Given the description of an element on the screen output the (x, y) to click on. 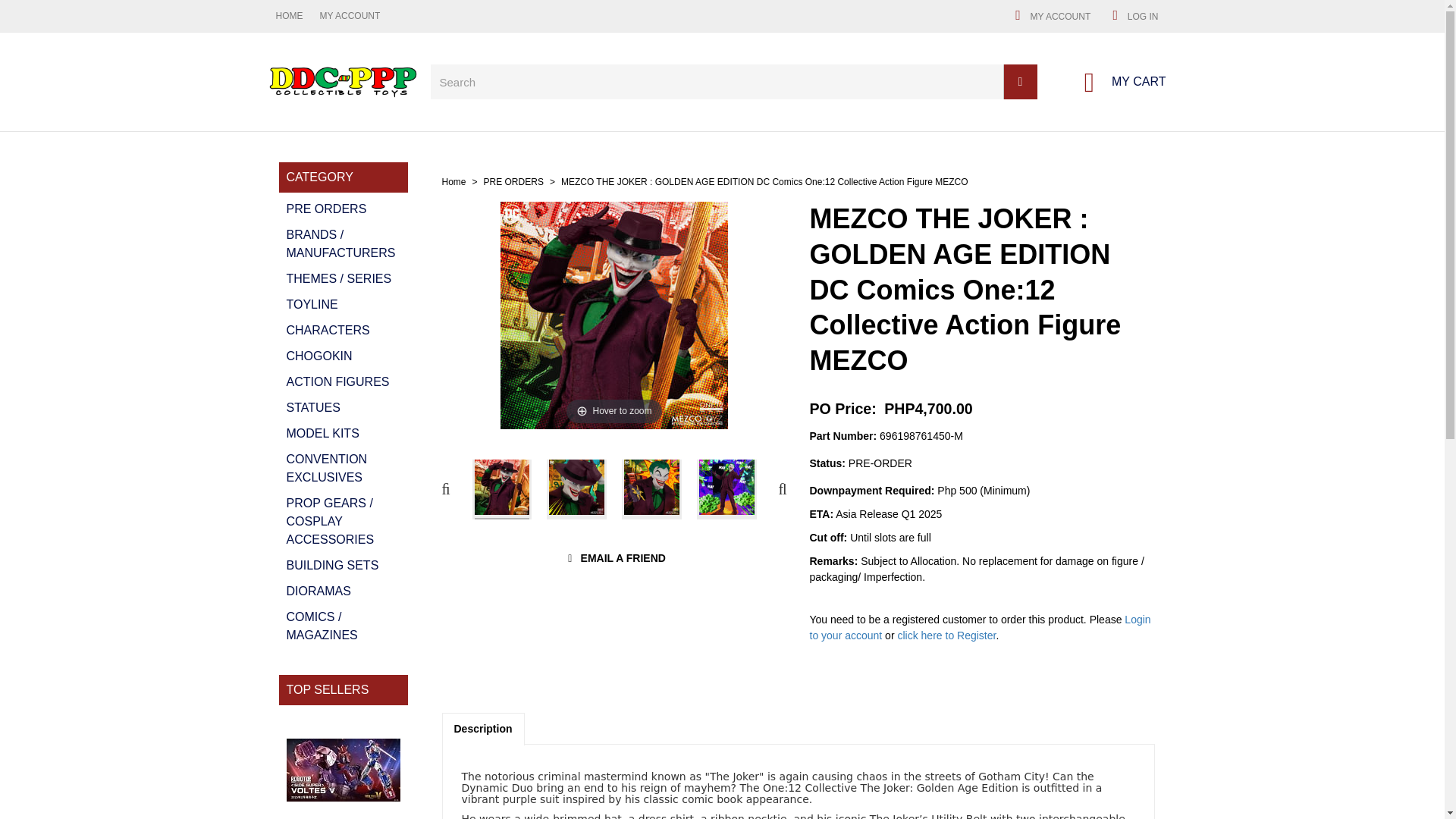
PRE ORDERS (513, 181)
Home (453, 181)
HOME (279, 15)
MODEL KITS (343, 434)
TOYLINE (343, 304)
Thumbnail (501, 489)
DIORAMAS (1050, 15)
STATUES (343, 591)
CONVENTION EXCLUSIVES (343, 407)
BUILDING SETS (343, 468)
